Given the description of an element on the screen output the (x, y) to click on. 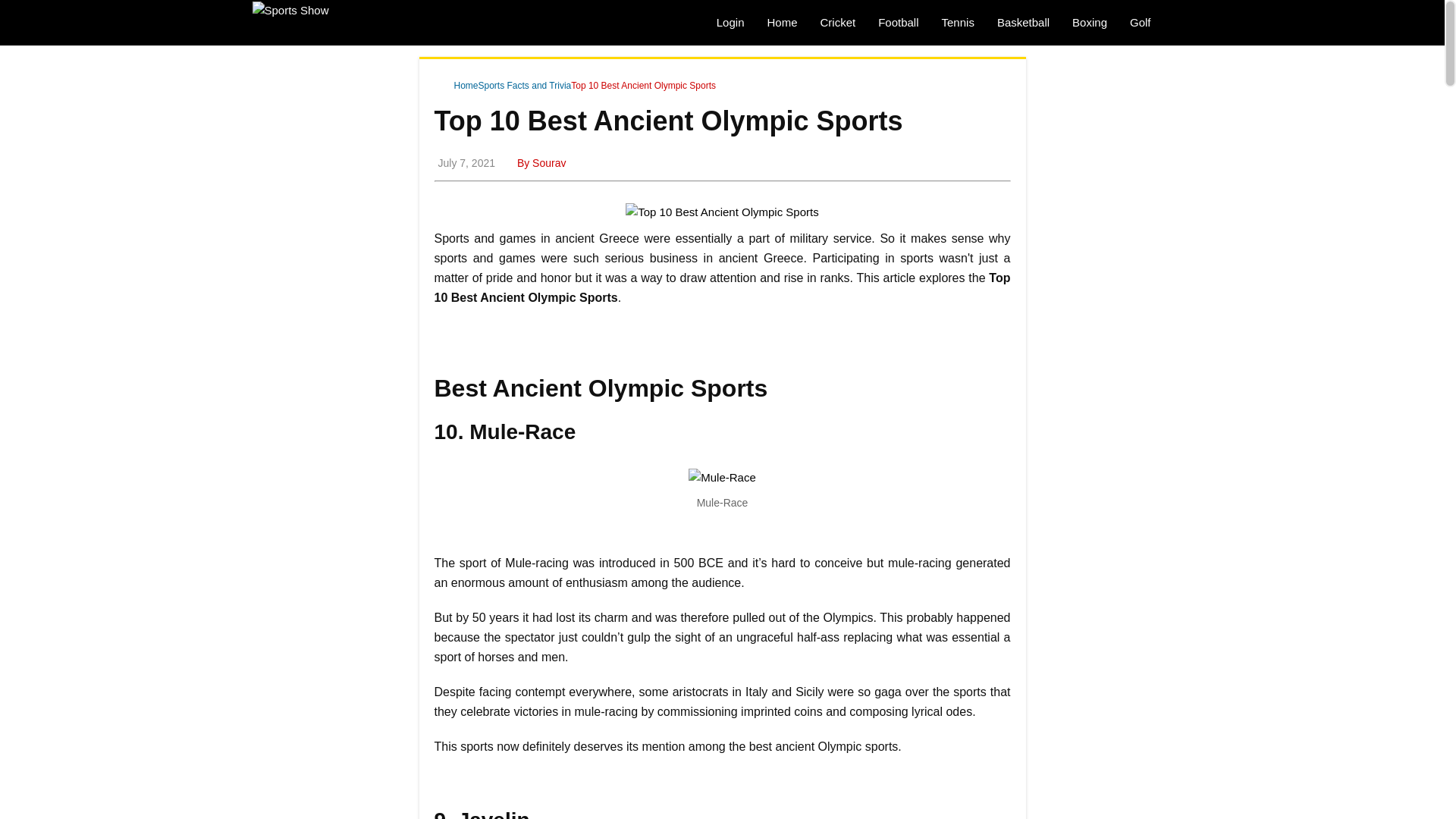
Basketball (1023, 22)
Cricket (837, 22)
Top 10 Best Ancient Olympic Sports (643, 85)
Football (898, 22)
Home (781, 22)
Home (459, 85)
Tennis (957, 22)
Golf (1139, 22)
By Sourav (539, 162)
Login (729, 22)
